Given the description of an element on the screen output the (x, y) to click on. 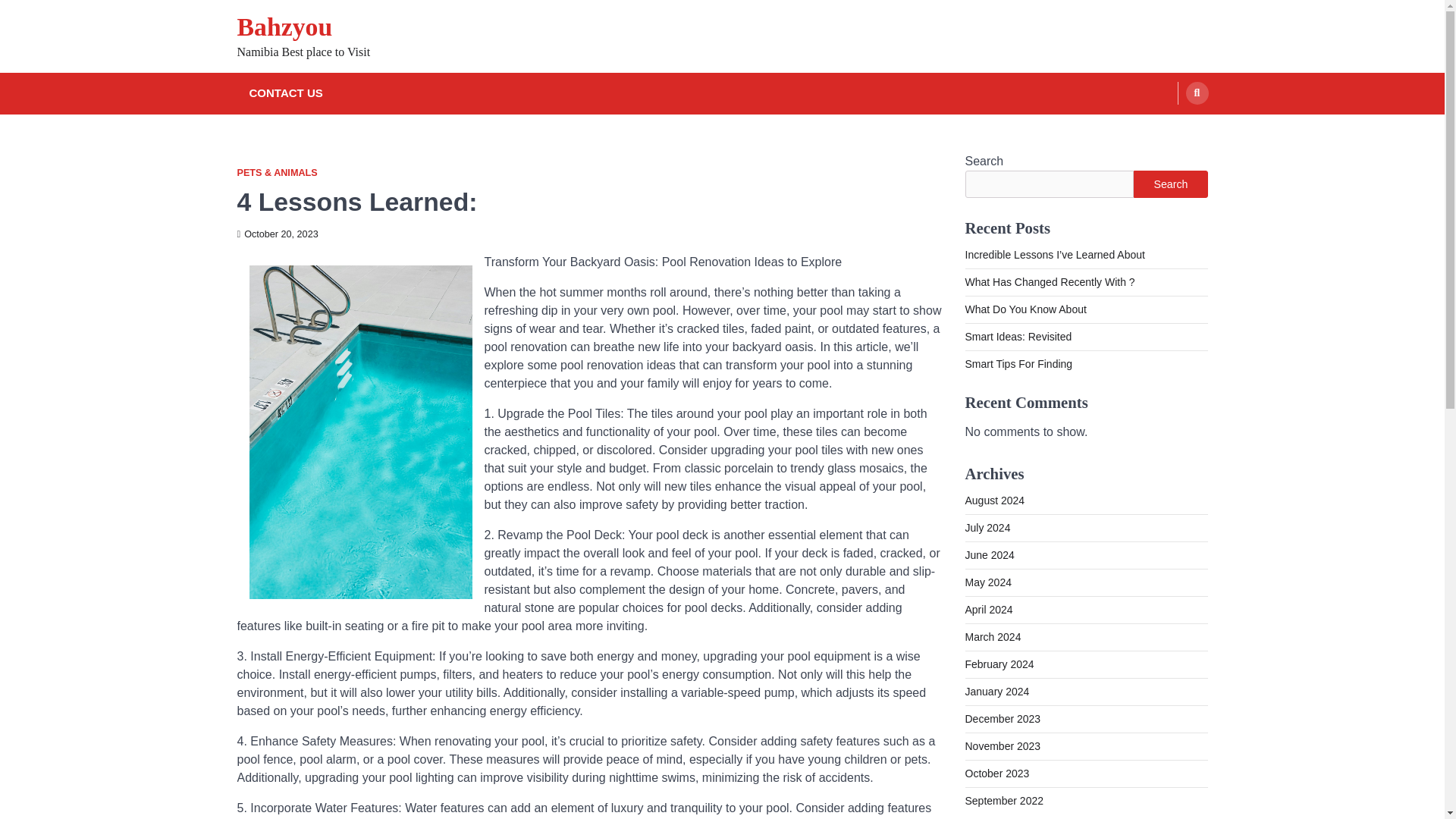
June 2024 (988, 554)
April 2024 (987, 609)
Bahzyou (283, 26)
CONTACT US (286, 93)
August 2024 (994, 500)
May 2024 (986, 582)
February 2024 (998, 664)
Smart Ideas: Revisited (1017, 336)
October 2023 (996, 773)
July 2024 (986, 527)
